Given the description of an element on the screen output the (x, y) to click on. 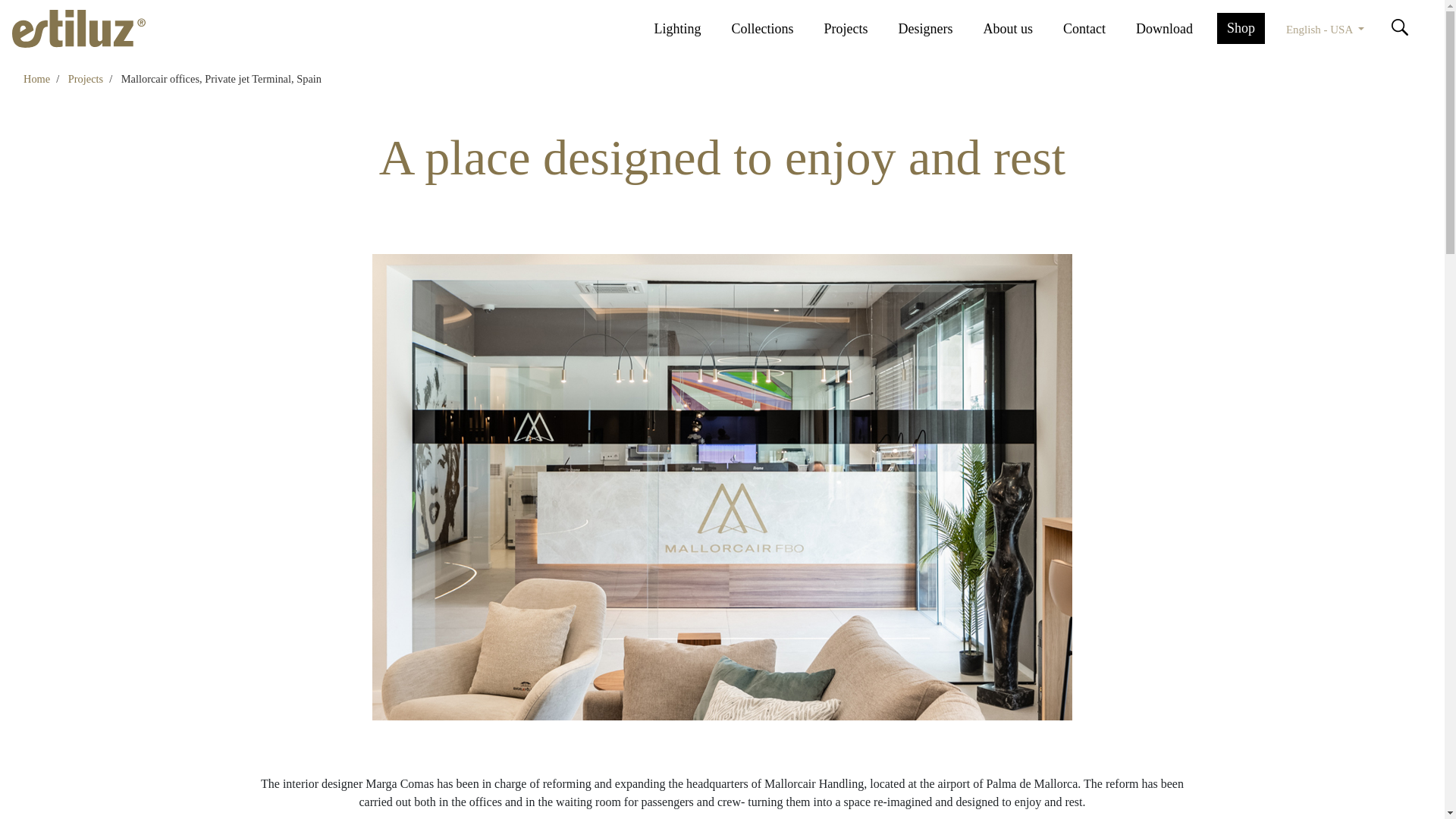
Home (36, 78)
Lighting (686, 28)
Projects (853, 28)
English - USA (1324, 27)
Shop (1241, 27)
Projects (85, 78)
Projects (85, 78)
Home (36, 78)
Designers (933, 28)
Contact (1093, 28)
